Given the description of an element on the screen output the (x, y) to click on. 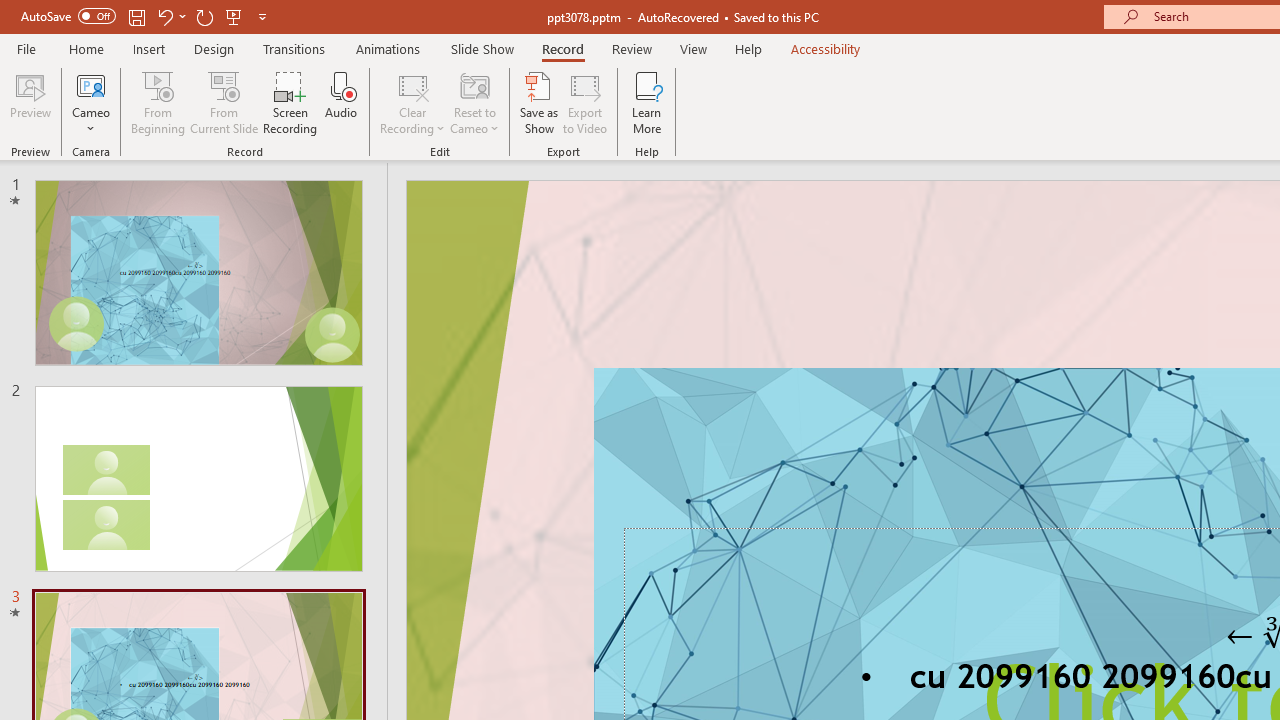
Clear Recording (412, 102)
From Current Slide... (224, 102)
Quick Access Toolbar (145, 16)
Undo (170, 15)
System (10, 11)
Review (631, 48)
